Given the description of an element on the screen output the (x, y) to click on. 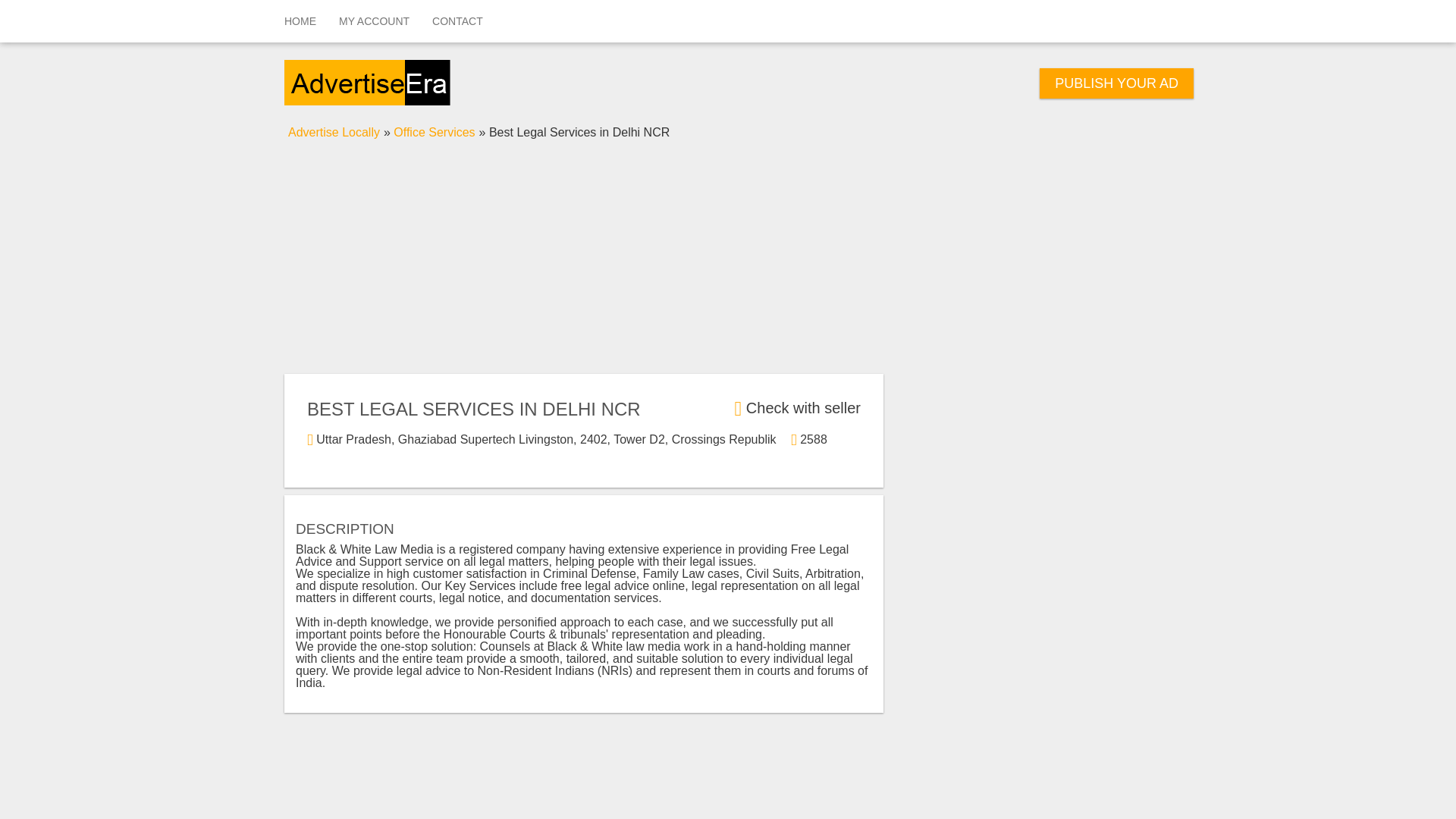
Office Services (433, 132)
Advertise Locally (334, 132)
PUBLISH YOUR AD (1116, 82)
HOME (300, 21)
CONTACT (457, 21)
MY ACCOUNT (373, 21)
